Given the description of an element on the screen output the (x, y) to click on. 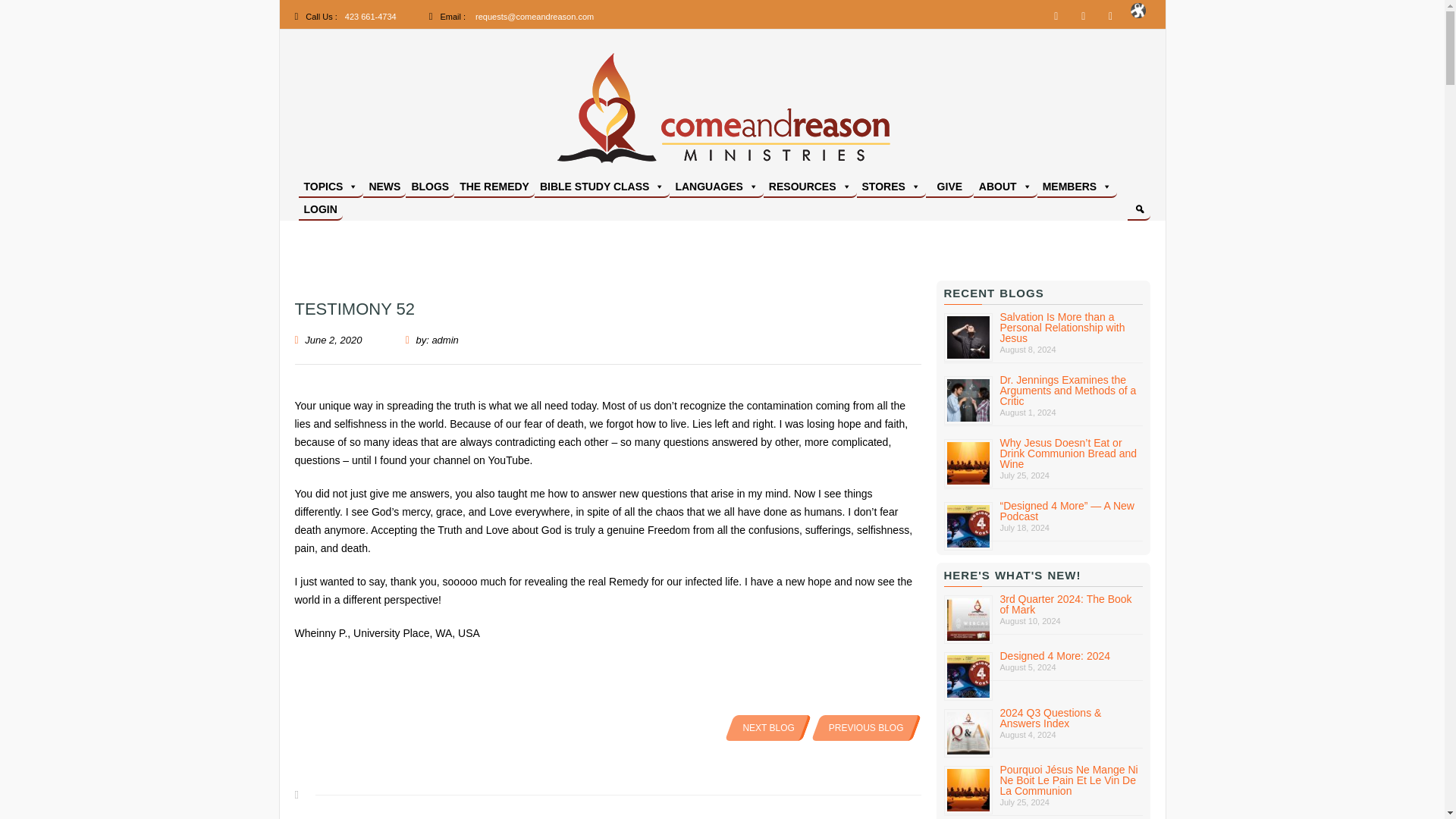
BIBLE STUDY CLASS (601, 186)
Click to go to our Facebook page (1055, 15)
Come And Reason Ministries (868, 186)
Click to go to our videos on Odysee (1137, 15)
TOPICS (331, 186)
Come And Reason Ministries (868, 186)
HOME (722, 112)
423 661-4734 (370, 16)
BLOGS (430, 186)
Click to email us (535, 16)
